Given the description of an element on the screen output the (x, y) to click on. 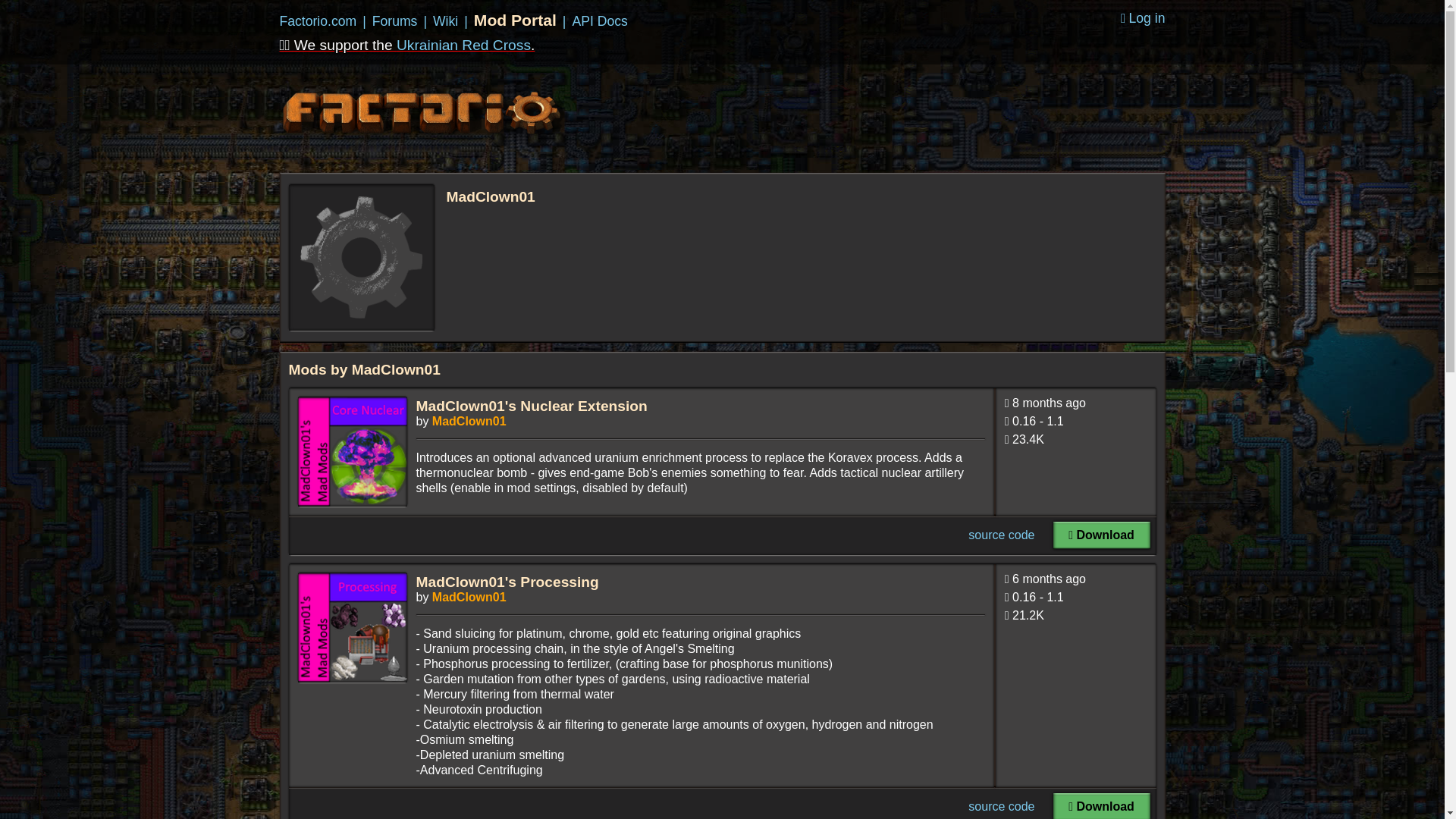
source code (1000, 534)
2023-11-12T01:54:32.671000 (1048, 402)
MadClown01 (469, 596)
source code (1000, 806)
Last updated (1075, 582)
21185 (1027, 615)
Available for these Factorio versions (1075, 424)
Last updated (1075, 406)
Download (1101, 806)
Available for these Factorio versions (1075, 600)
2023-12-31T13:24:18.246000 (1048, 578)
API Docs (599, 21)
Downloads, updated daily (1075, 618)
MadClown01 (469, 420)
Factorio.com (317, 21)
